Given the description of an element on the screen output the (x, y) to click on. 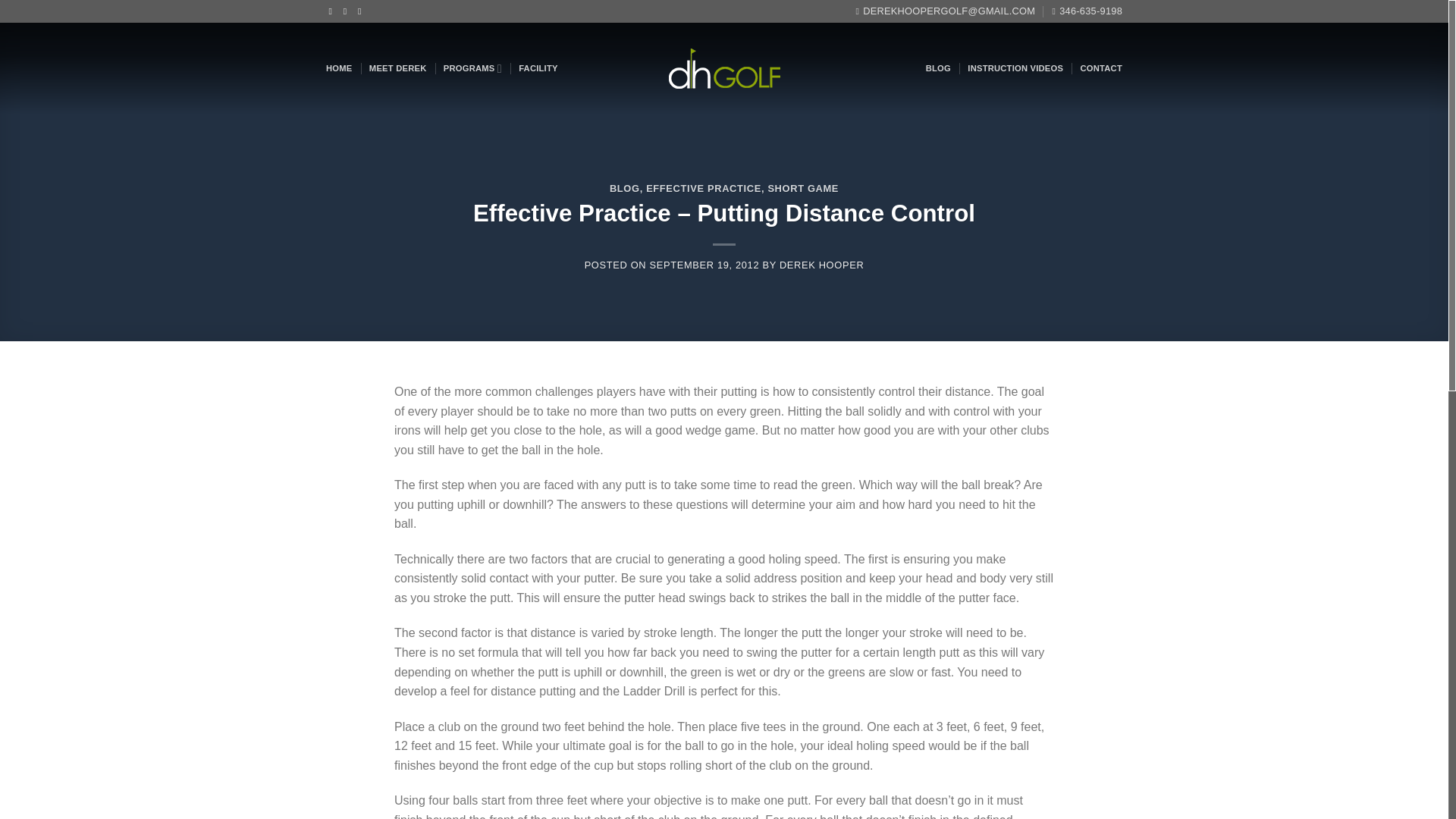
INSTRUCTION VIDEOS (1015, 68)
DEREK HOOPER (820, 265)
346-635-9198 (1087, 11)
SHORT GAME (802, 188)
346-635-9198 (1087, 11)
FACILITY (537, 68)
BLOG (625, 188)
EFFECTIVE PRACTICE (703, 188)
PROGRAMS (473, 68)
